Given the description of an element on the screen output the (x, y) to click on. 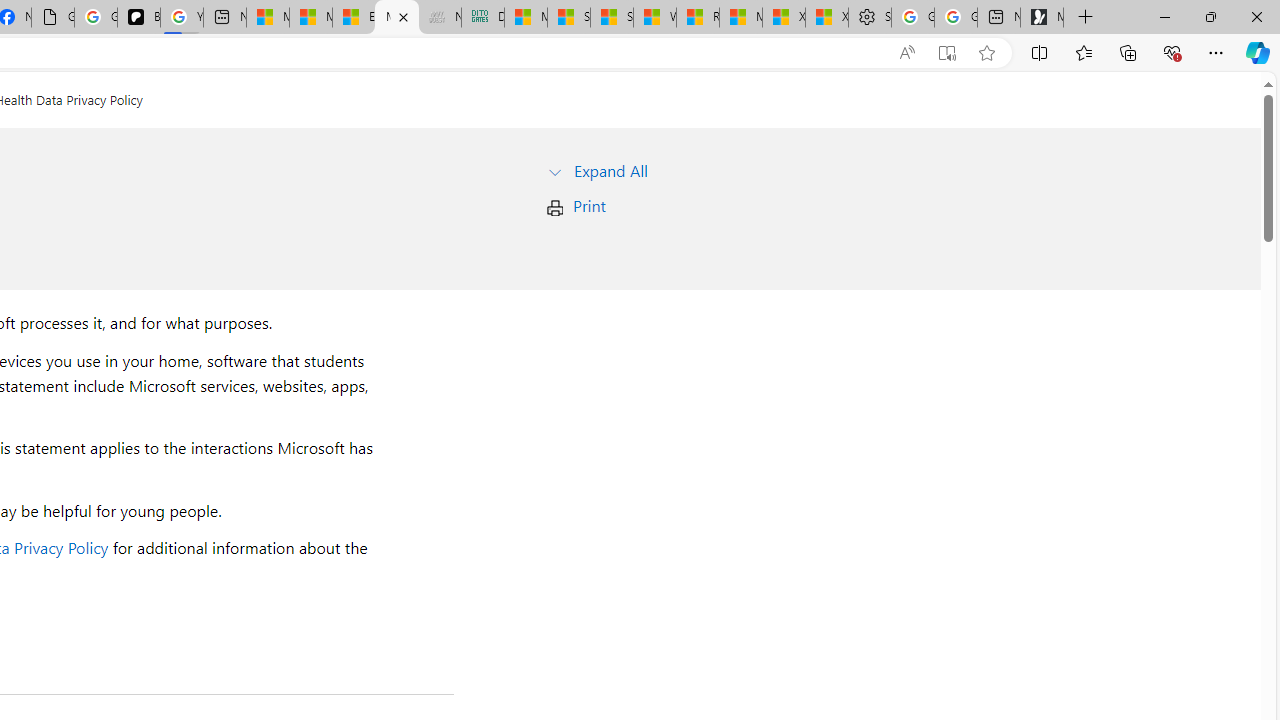
R******* | Trusted Community Engagement and Contributions (698, 17)
Entertainment - MSN (353, 17)
Google Analytics Opt-out Browser Add-on Download Page (53, 17)
